Given the description of an element on the screen output the (x, y) to click on. 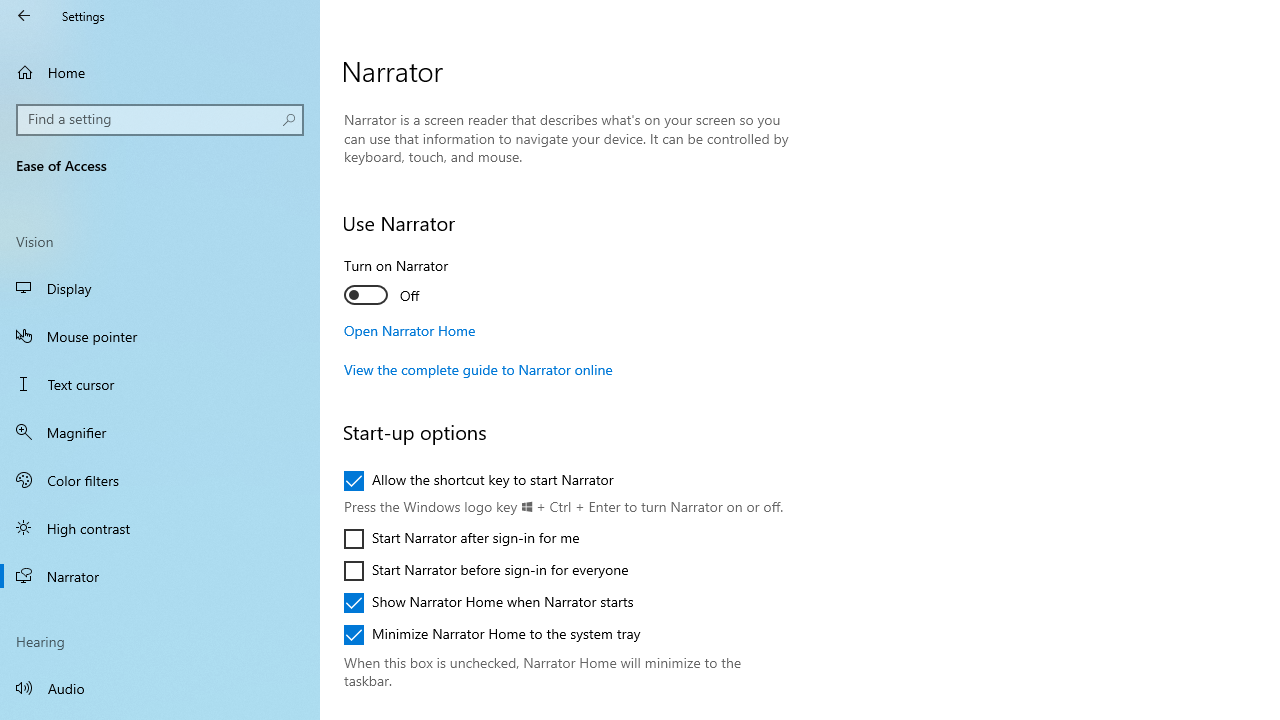
Color filters (160, 479)
Start Narrator before sign-in for everyone (486, 570)
Text cursor (160, 384)
Show Narrator Home when Narrator starts (488, 602)
Back (24, 15)
Open Narrator Home (410, 330)
Turn on Narrator (417, 283)
Narrator (160, 575)
Search box, Find a setting (160, 119)
Start Narrator after sign-in for me (461, 538)
Home (160, 71)
Allow the shortcut key to start Narrator (479, 480)
Magnifier (160, 431)
Display (160, 287)
High contrast (160, 527)
